Given the description of an element on the screen output the (x, y) to click on. 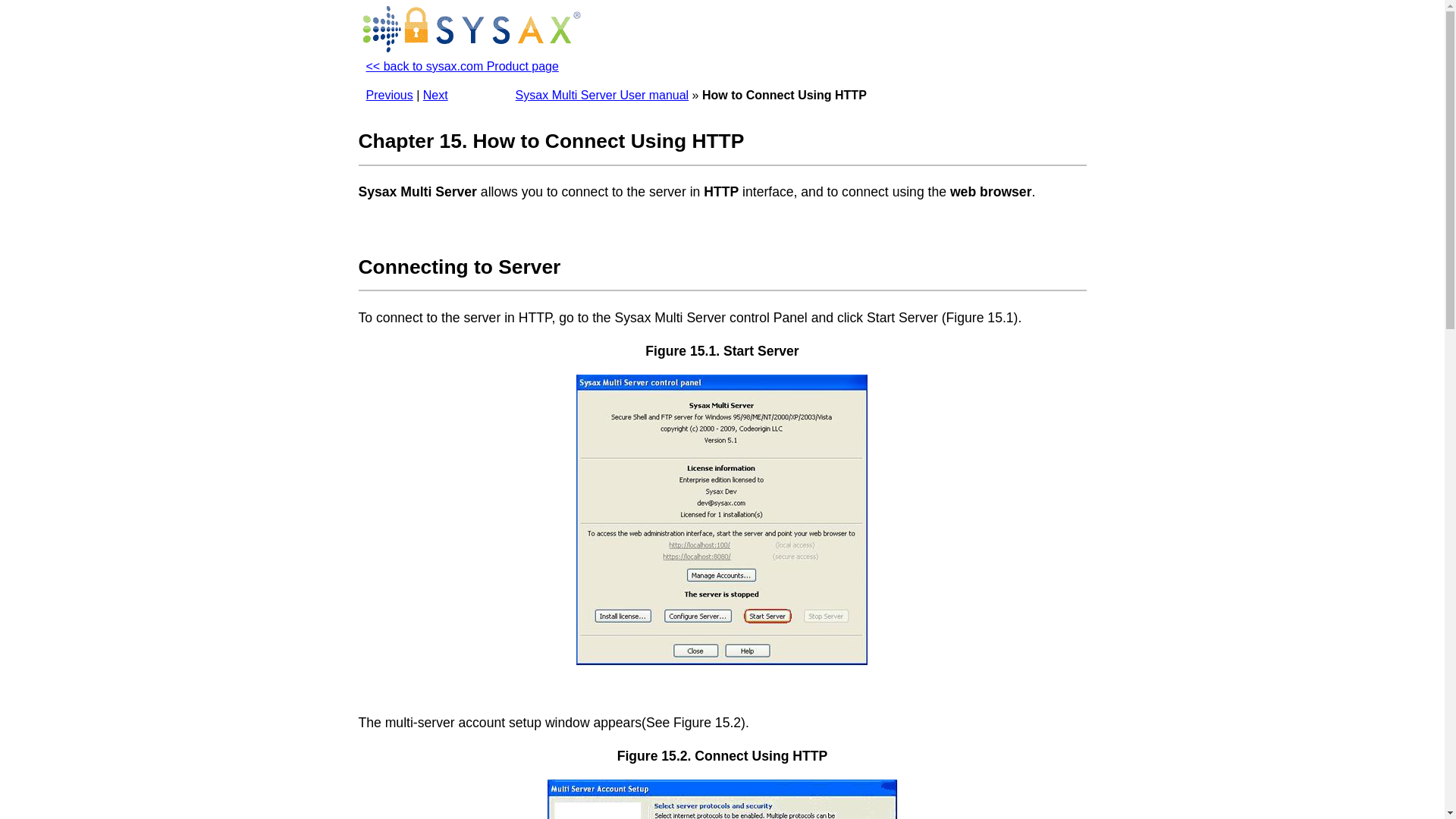
Next (435, 94)
Previous (388, 94)
Sysax Multi Server User manual (601, 94)
